Given the description of an element on the screen output the (x, y) to click on. 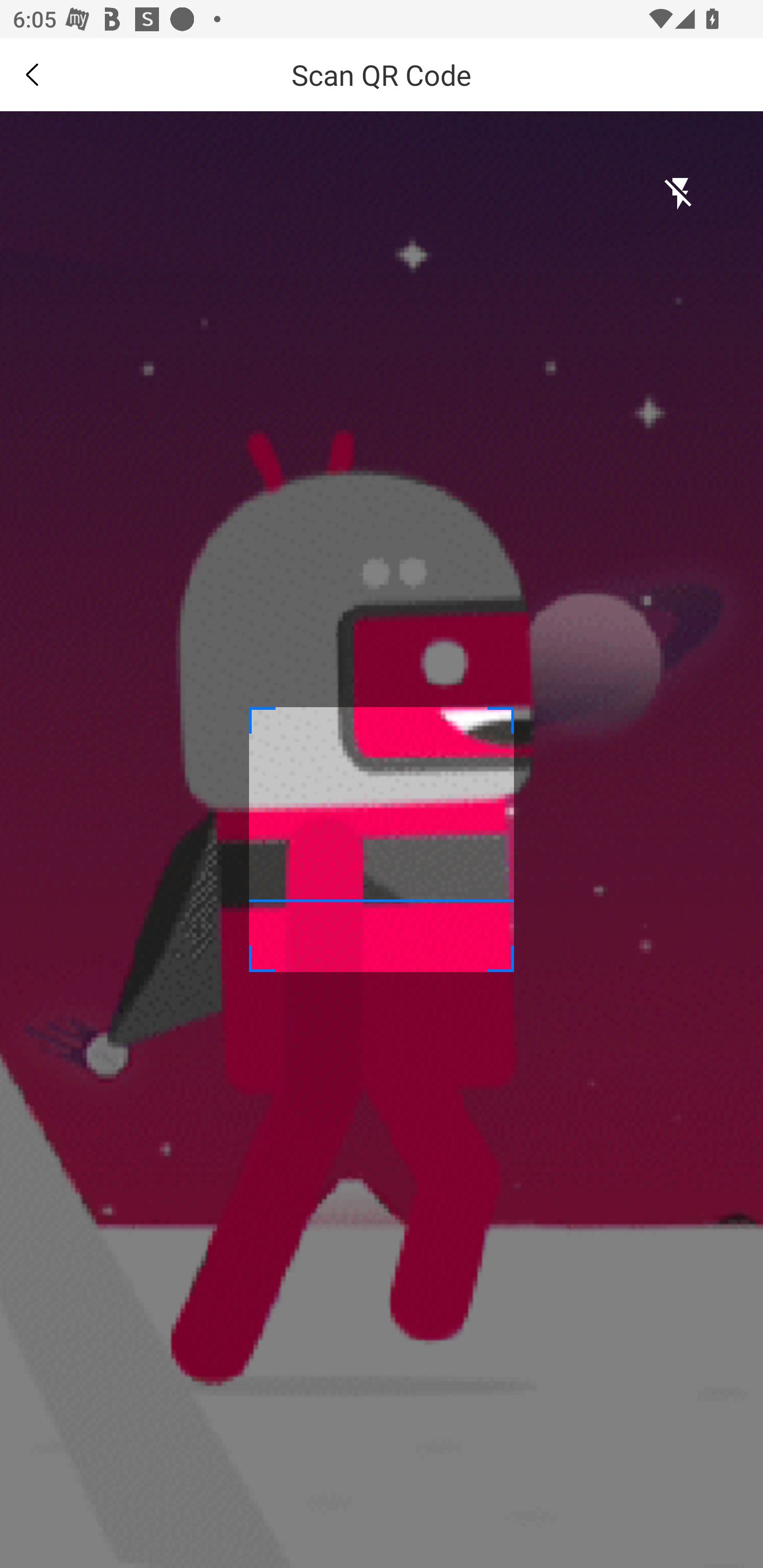
Back (31, 74)
